Given the description of an element on the screen output the (x, y) to click on. 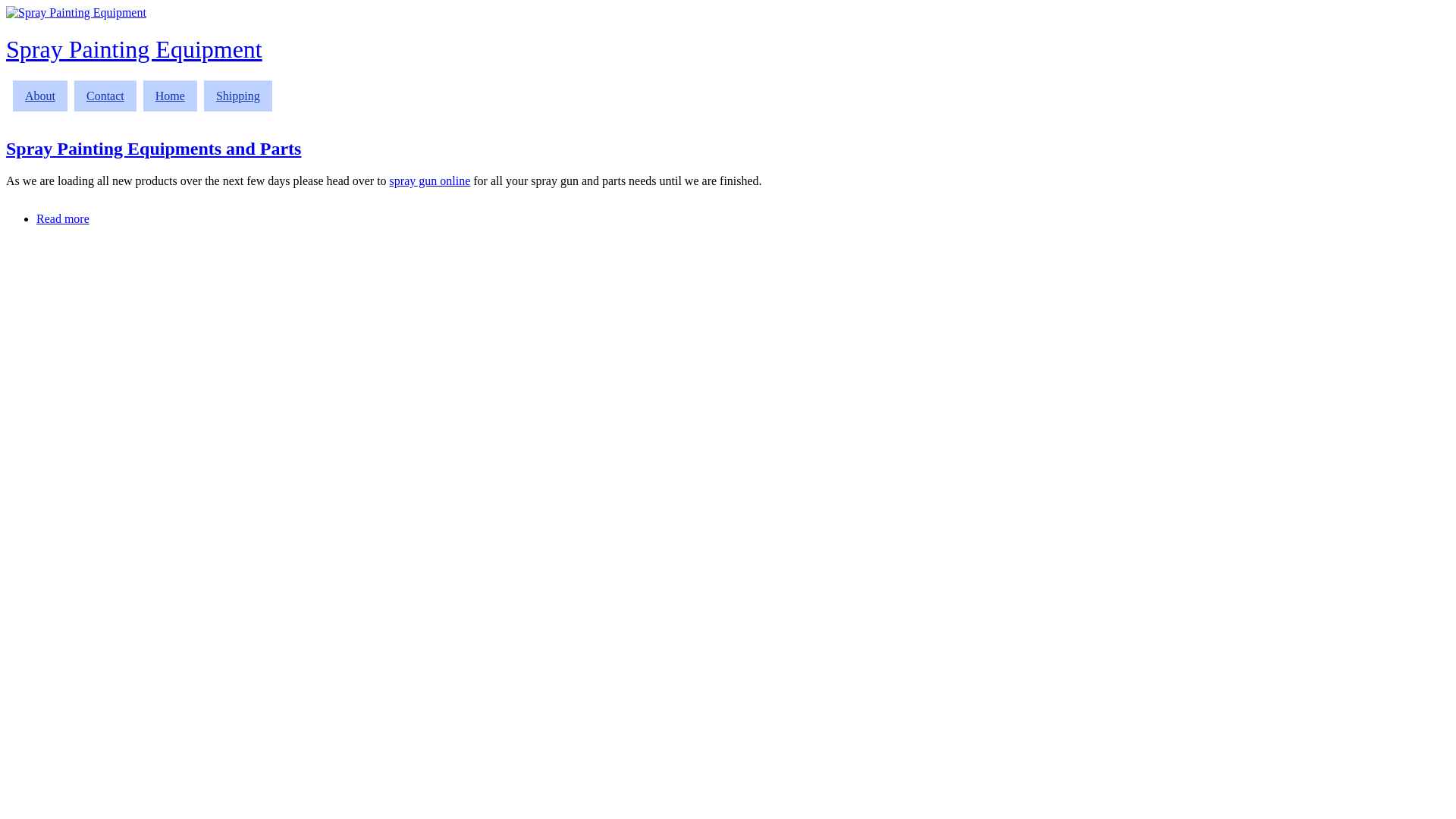
Read more
about Spray Painting Equipments and Parts Element type: text (62, 218)
Spray Painting Equipments and Parts Element type: text (153, 148)
About Element type: text (39, 95)
Shipping Element type: text (237, 95)
Home Element type: text (169, 95)
Spray Painting Equipment Element type: text (134, 48)
spray gun online Element type: text (429, 180)
Contact Element type: text (104, 95)
Spray Painting Equipment Element type: hover (76, 12)
Skip to main content Element type: text (56, 6)
